Given the description of an element on the screen output the (x, y) to click on. 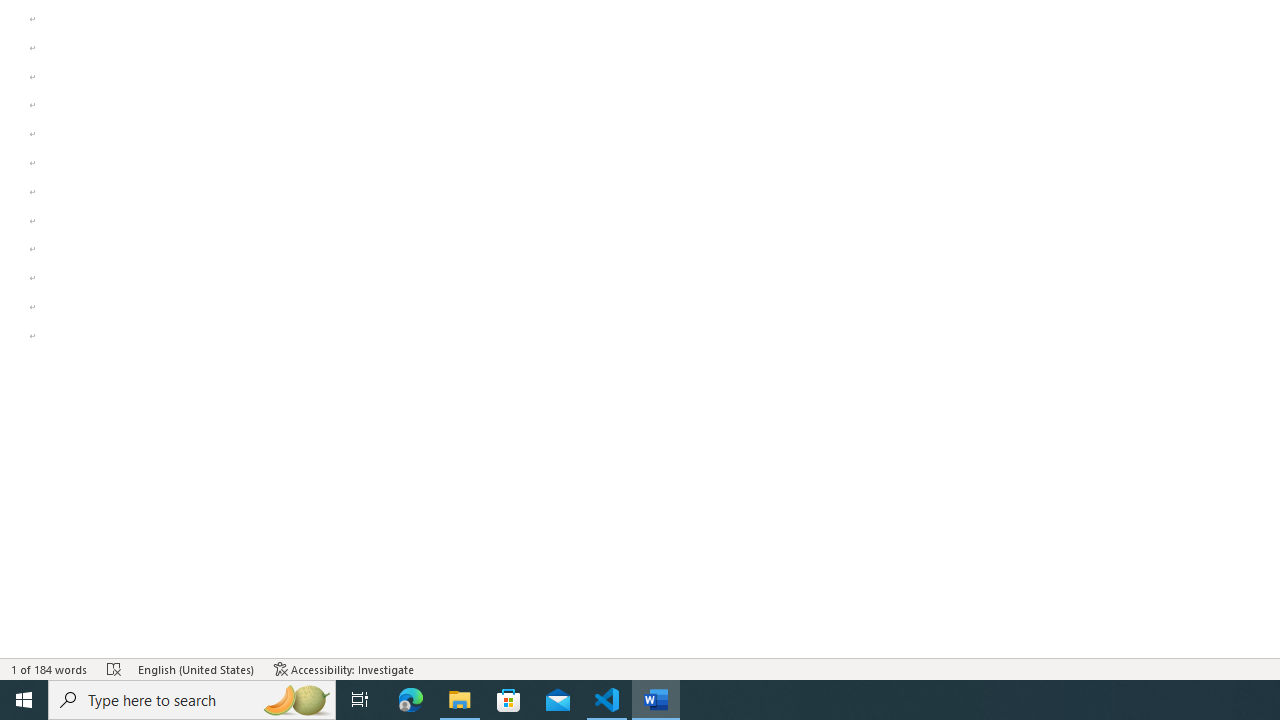
Language English (United States) (196, 668)
Spelling and Grammar Check Errors (114, 668)
Accessibility Checker Accessibility: Investigate (344, 668)
Word Count 1 of 184 words (49, 668)
